Given the description of an element on the screen output the (x, y) to click on. 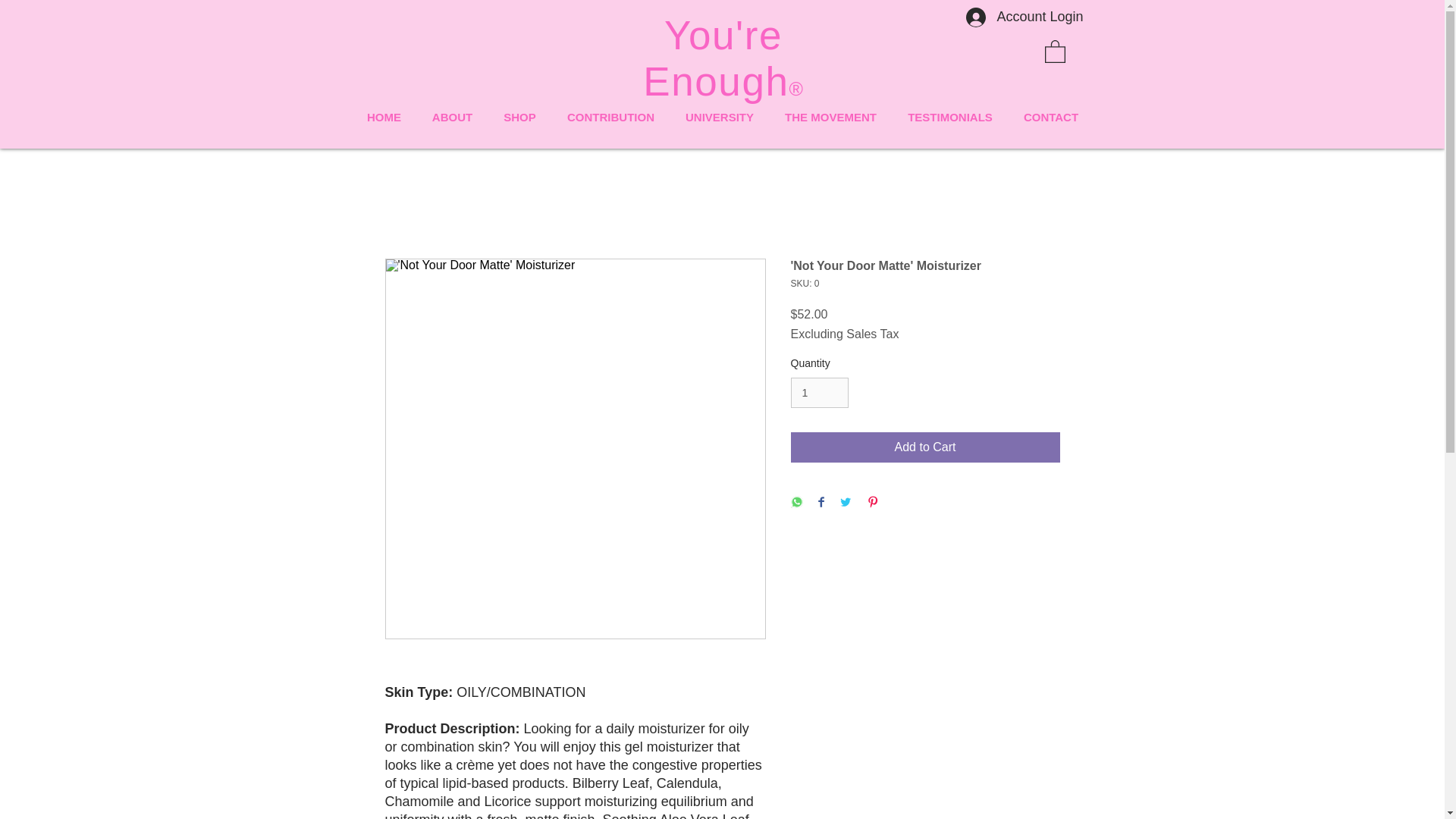
ABOUT (451, 117)
HOME (384, 117)
Add to Cart (924, 447)
Account Login (1024, 17)
UNIVERSITY (719, 117)
SHOP (519, 117)
CONTRIBUTION (610, 117)
1 (818, 392)
CONTACT (1051, 117)
THE MOVEMENT (829, 117)
